Given the description of an element on the screen output the (x, y) to click on. 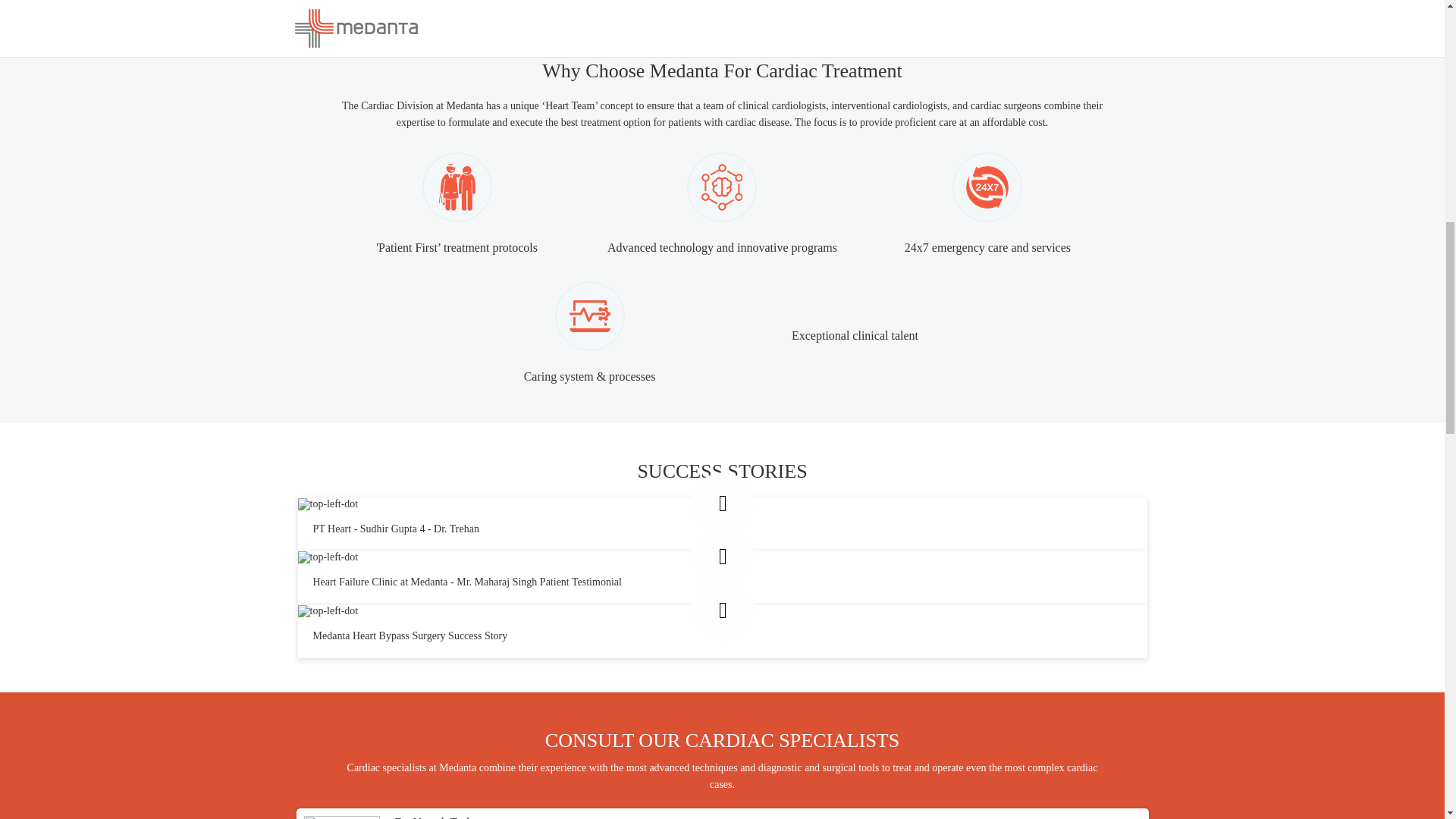
Exceptional clinical talent (854, 329)
Dr. Naresh Trehan (438, 817)
24x7 emergency care and services (986, 201)
Advanced technology and innovative programs (722, 201)
